Given the description of an element on the screen output the (x, y) to click on. 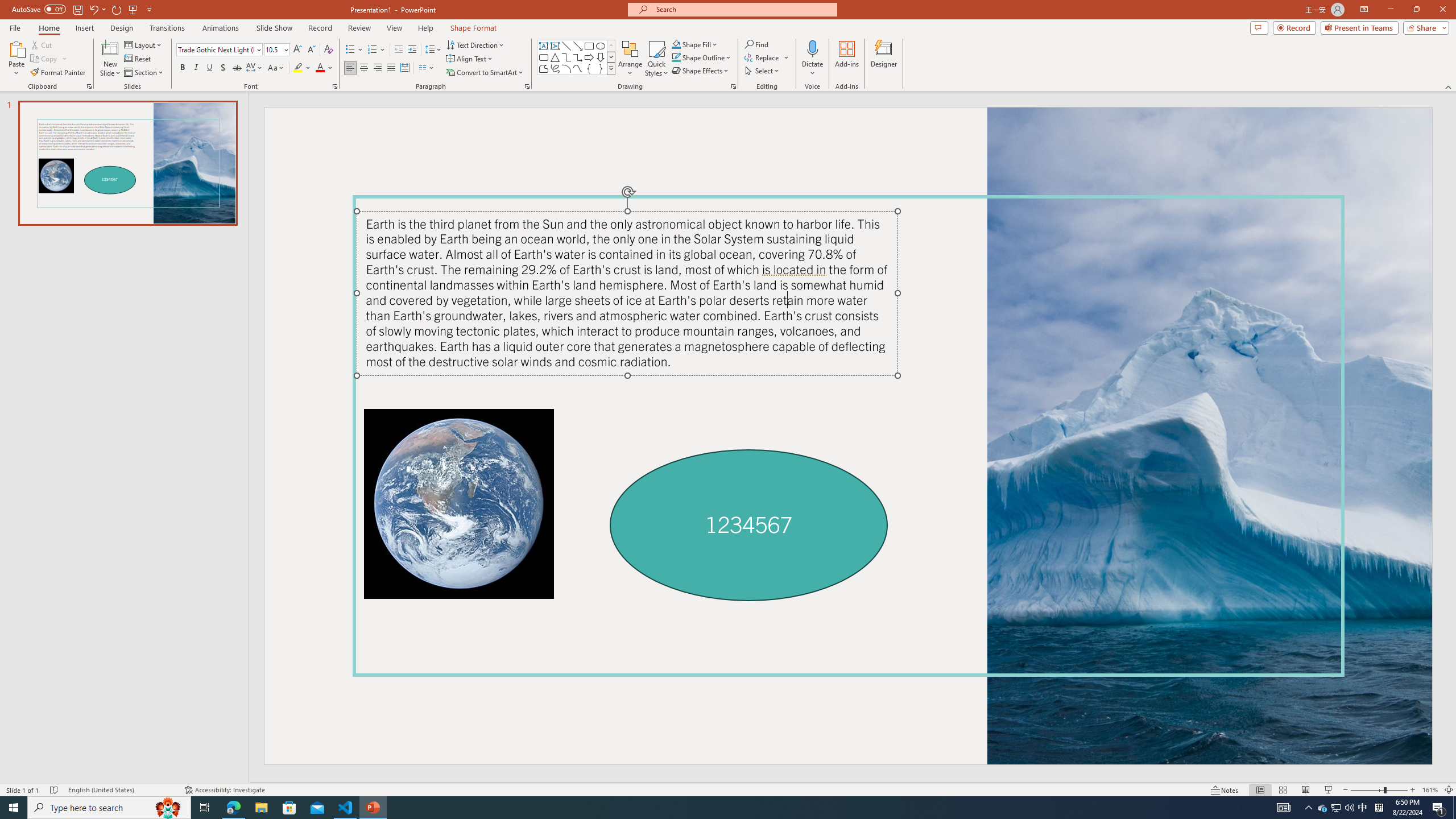
Class: NetUIToolWindow (909, 274)
